Given the description of an element on the screen output the (x, y) to click on. 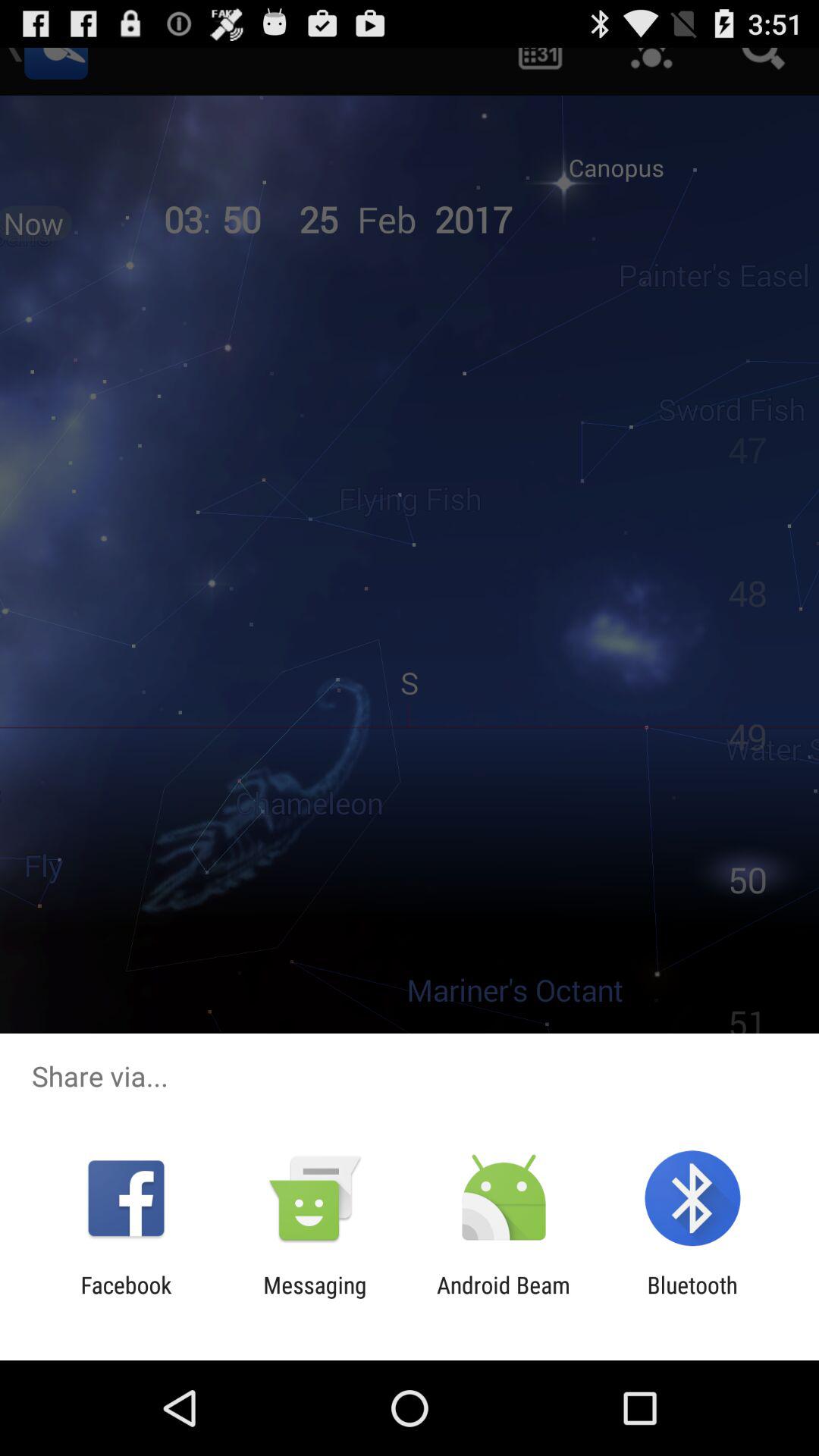
scroll to facebook (125, 1298)
